Given the description of an element on the screen output the (x, y) to click on. 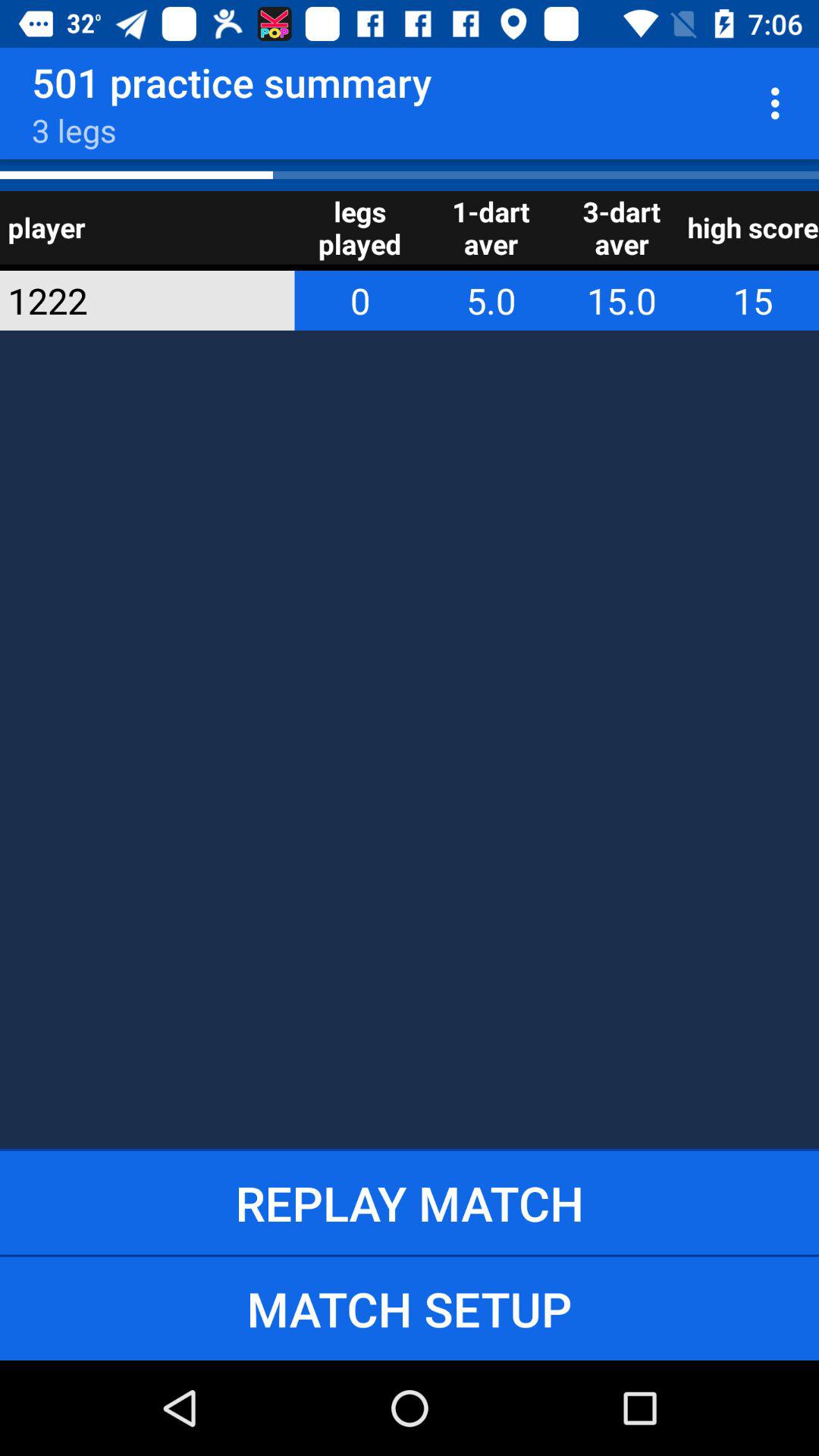
turn on the 1222 item (126, 300)
